Given the description of an element on the screen output the (x, y) to click on. 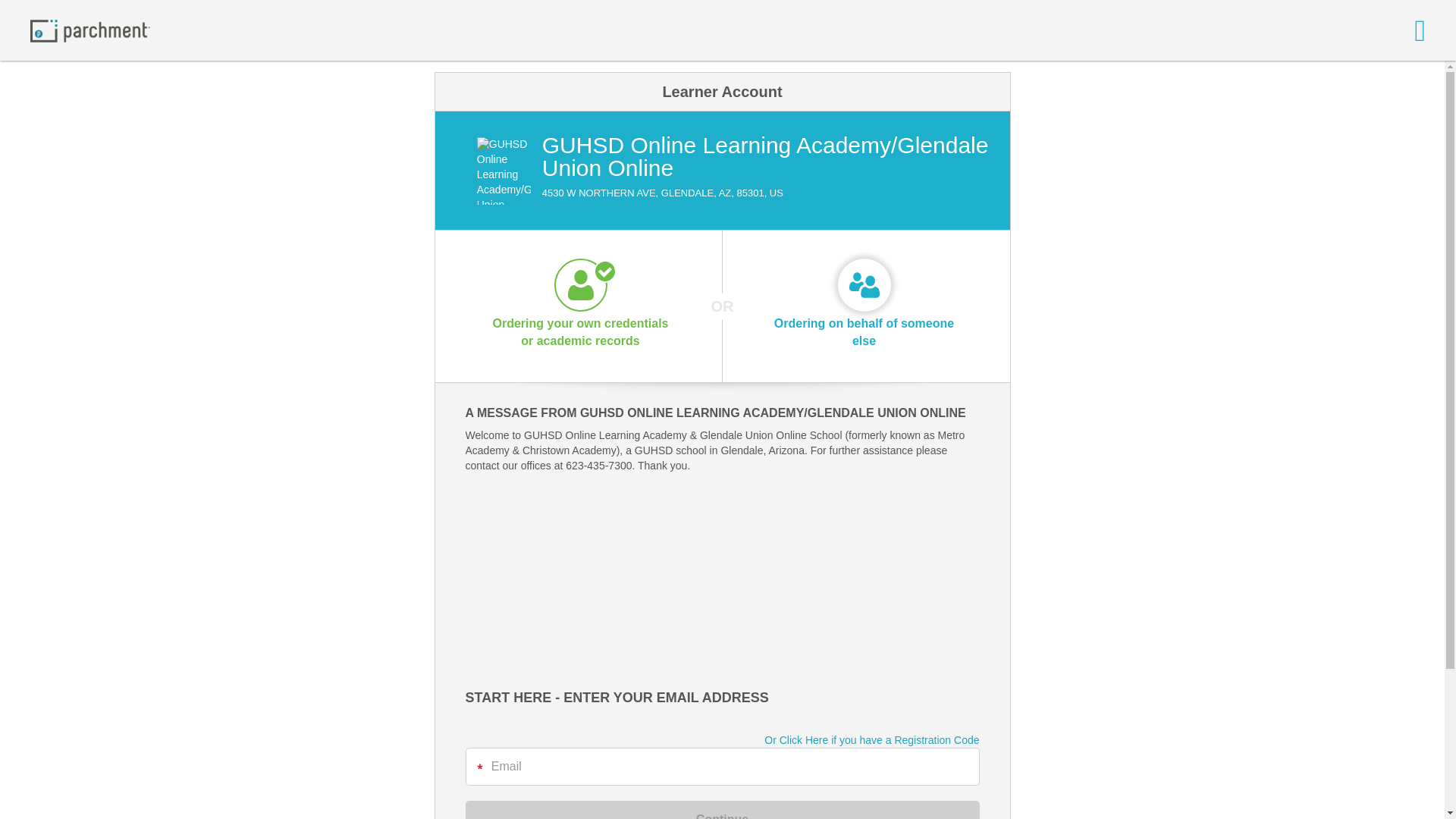
Or Click Here if you have a Registration Code (871, 739)
